Given the description of an element on the screen output the (x, y) to click on. 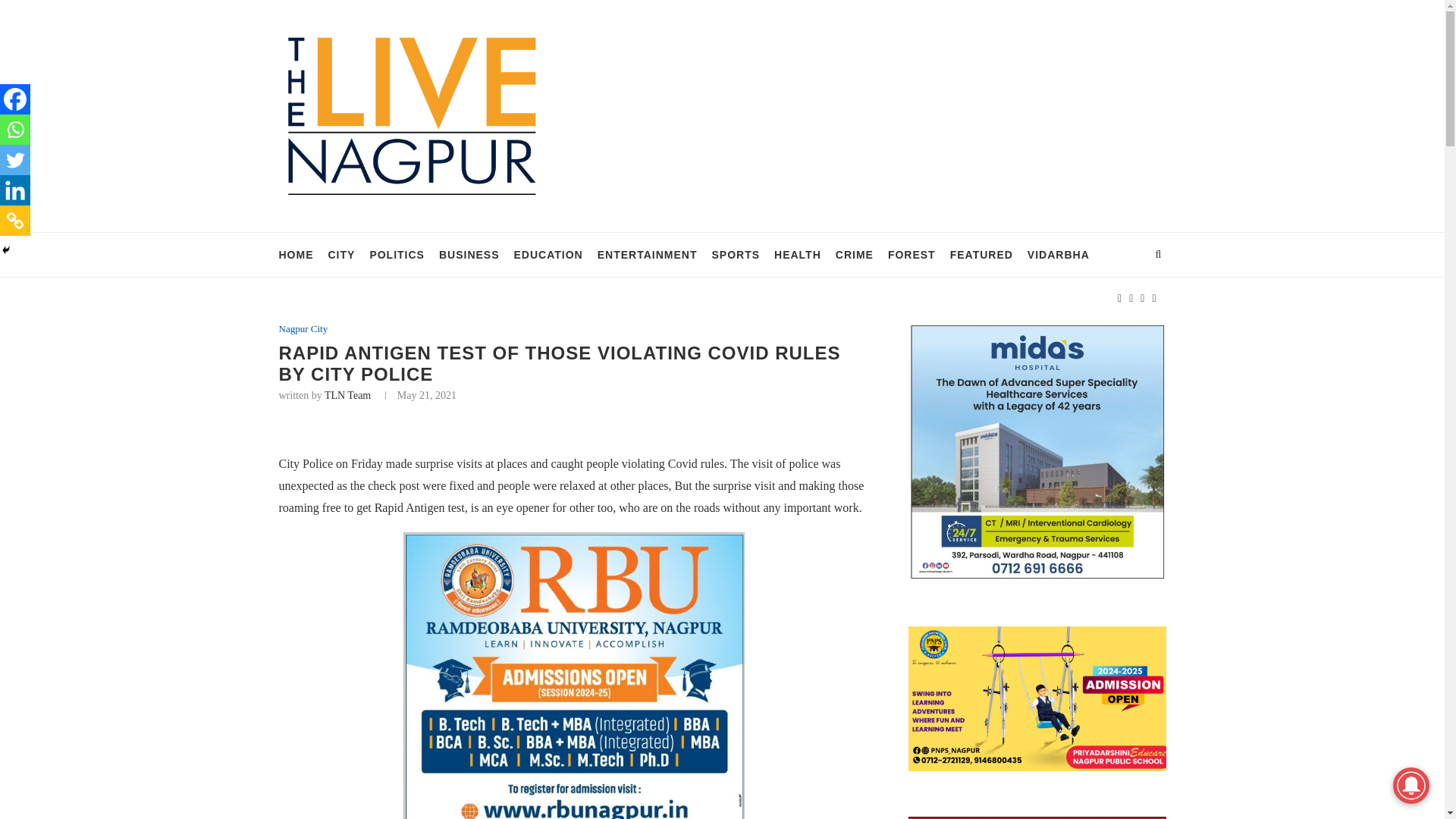
EDUCATION (548, 254)
POLITICS (397, 254)
Linkedin (15, 190)
ENTERTAINMENT (646, 254)
Twitter (15, 159)
VIDARBHA (1058, 254)
Copy Link (15, 220)
FOREST (912, 254)
SPORTS (735, 254)
FEATURED (981, 254)
HEALTH (797, 254)
Hide (5, 250)
BUSINESS (469, 254)
Facebook (15, 99)
